Given the description of an element on the screen output the (x, y) to click on. 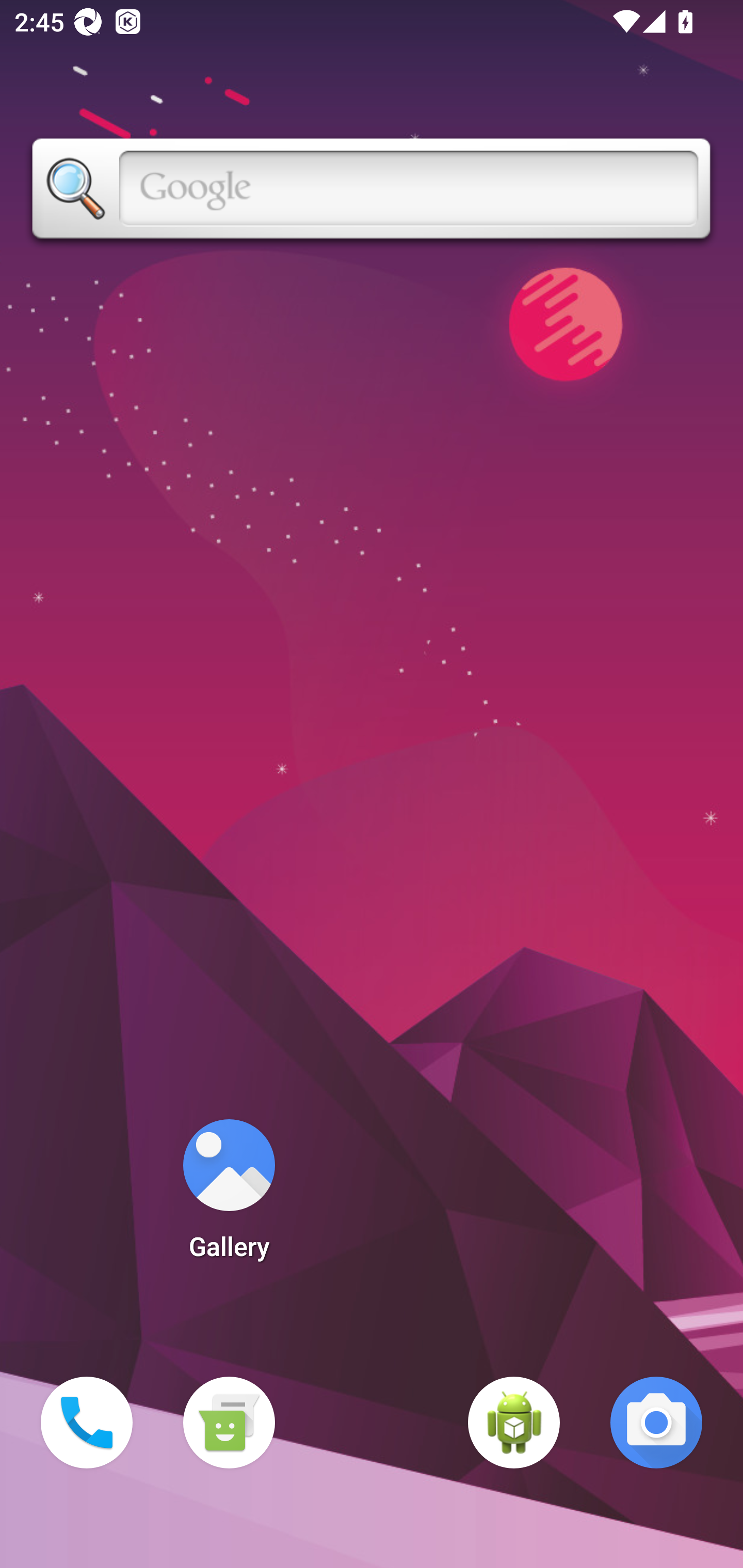
Gallery (228, 1195)
Phone (86, 1422)
Messaging (228, 1422)
WebView Browser Tester (513, 1422)
Camera (656, 1422)
